Given the description of an element on the screen output the (x, y) to click on. 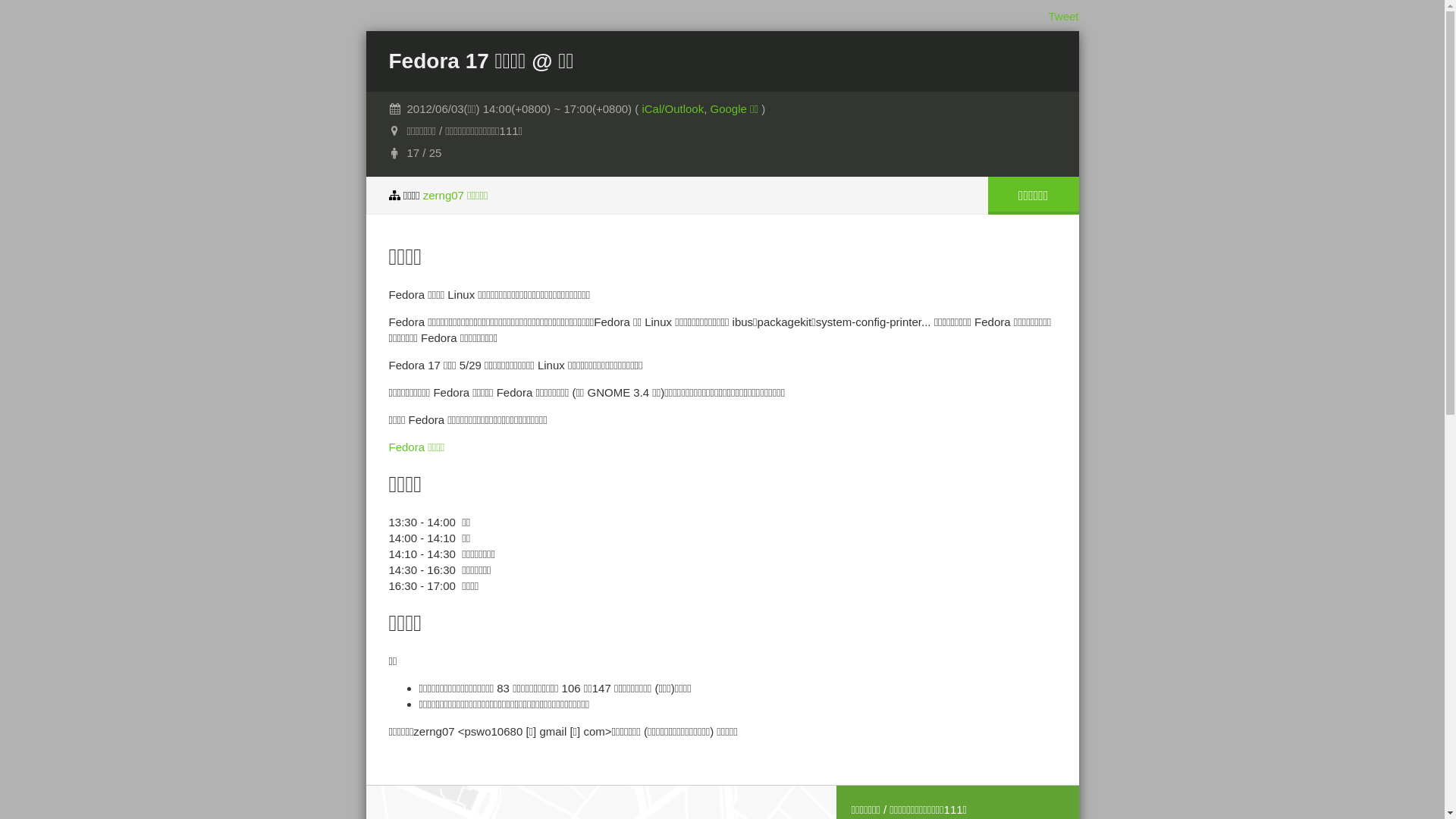
Tweet Element type: text (1063, 15)
iCal/Outlook Element type: text (672, 108)
